Given the description of an element on the screen output the (x, y) to click on. 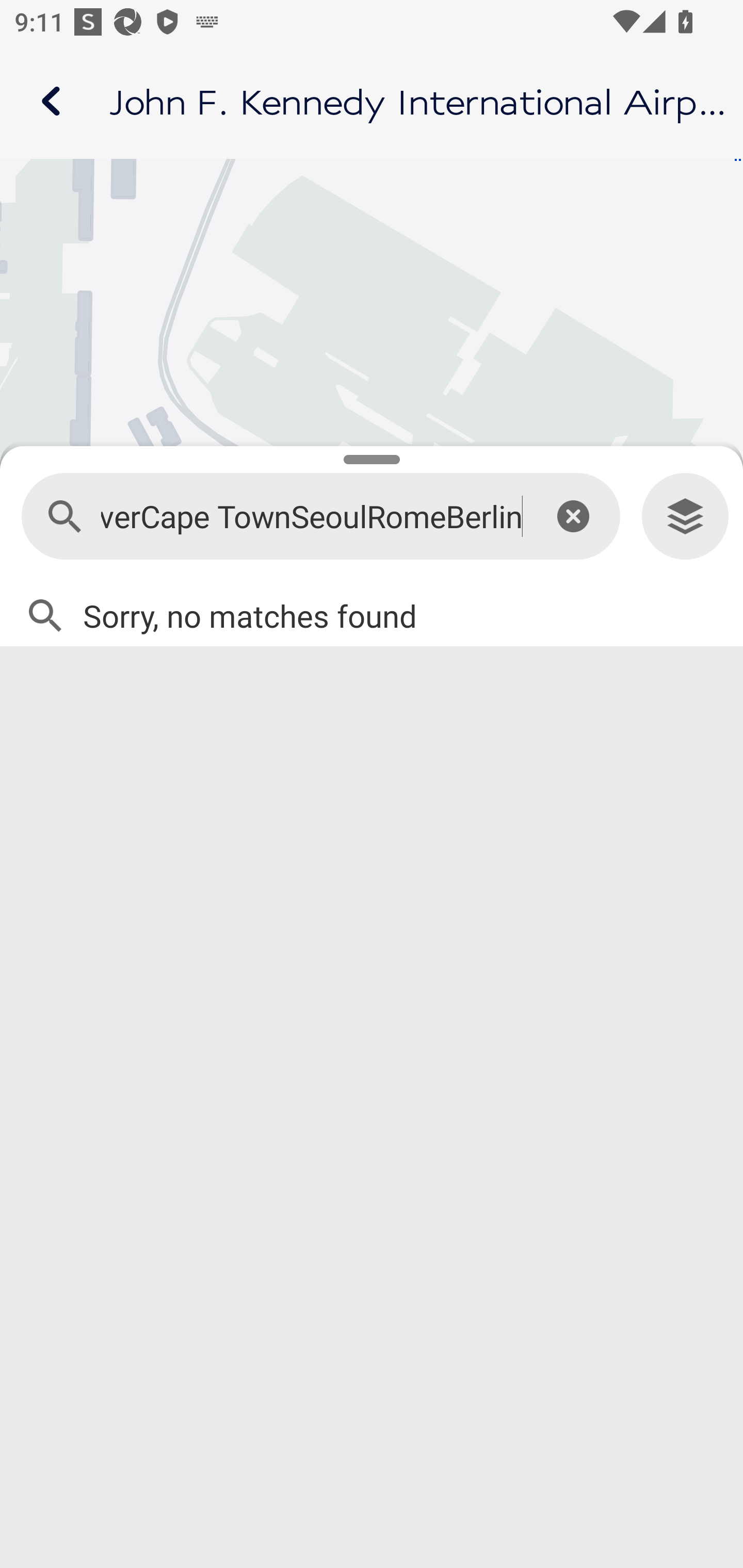
Airport map (371, 100)
MadridVancouverVancouverCape TownSeoulRomeBerlin (311, 516)
Levels (684, 516)
This is an icon for clearing the text field. (573, 515)
